Given the description of an element on the screen output the (x, y) to click on. 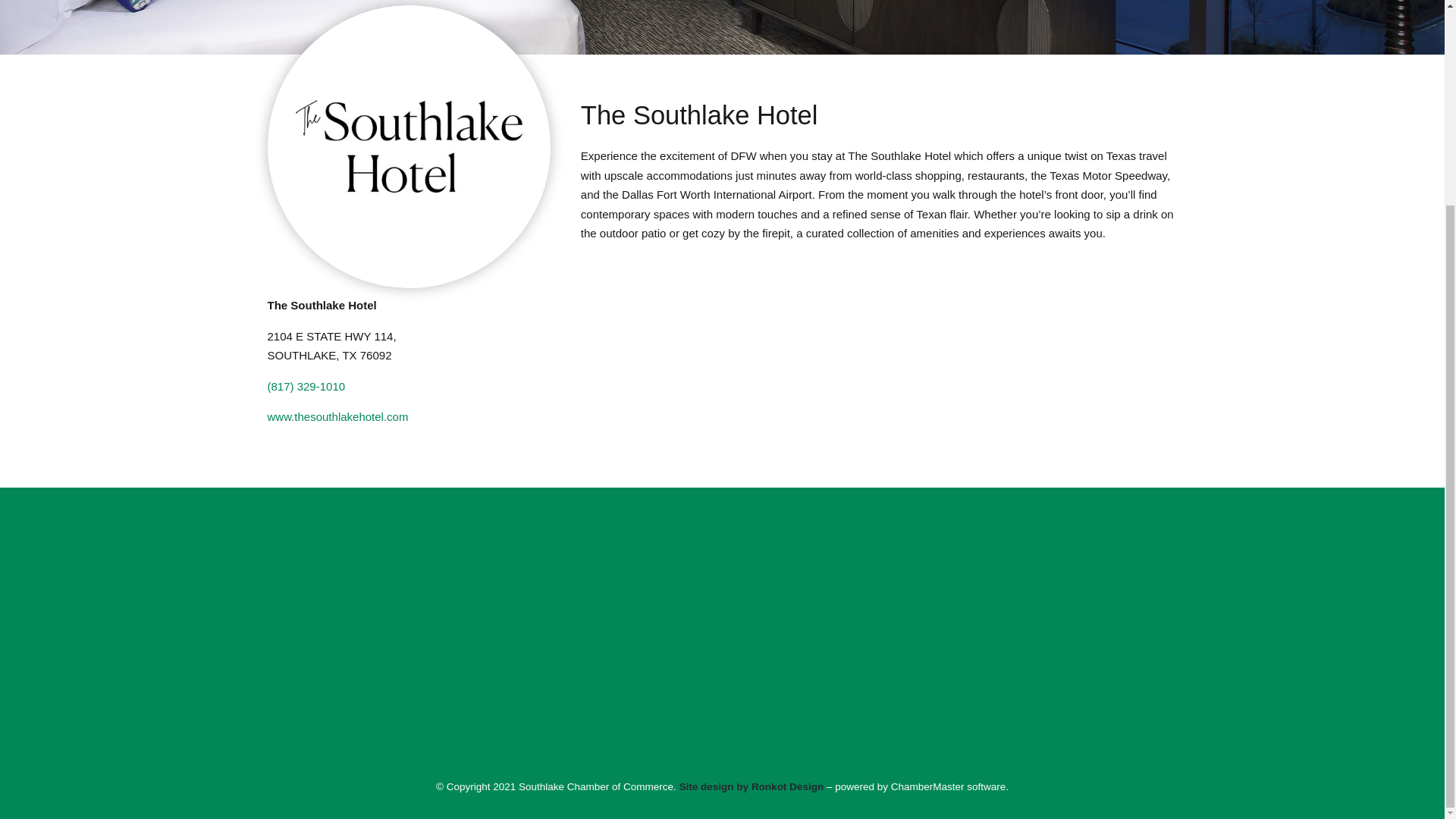
the-southlake-hotel-logo (408, 146)
